Given the description of an element on the screen output the (x, y) to click on. 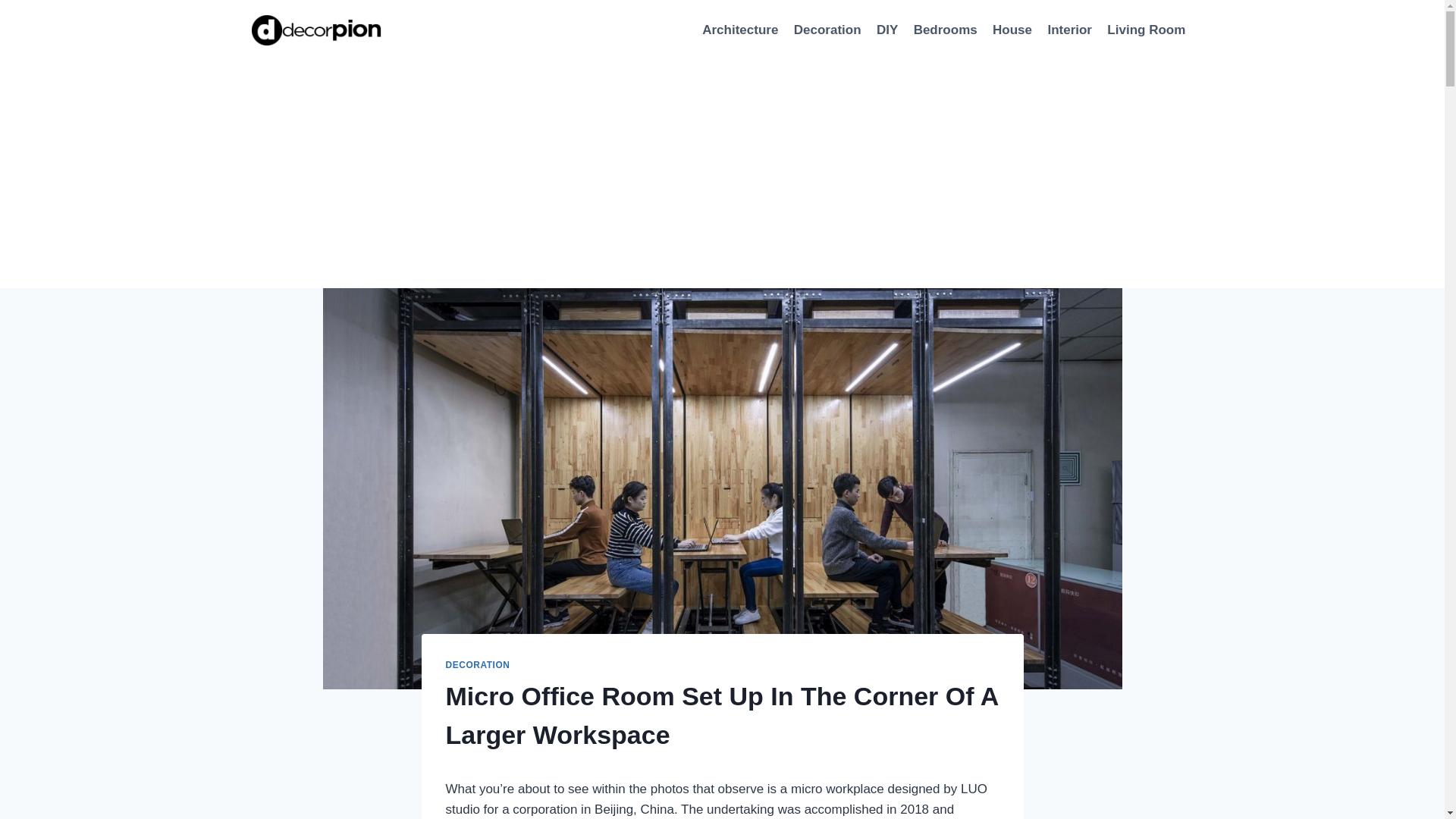
Bedrooms (944, 30)
Architecture (740, 30)
DIY (887, 30)
House (1012, 30)
DECORATION (478, 665)
Living Room (1145, 30)
Decoration (827, 30)
Interior (1069, 30)
